Given the description of an element on the screen output the (x, y) to click on. 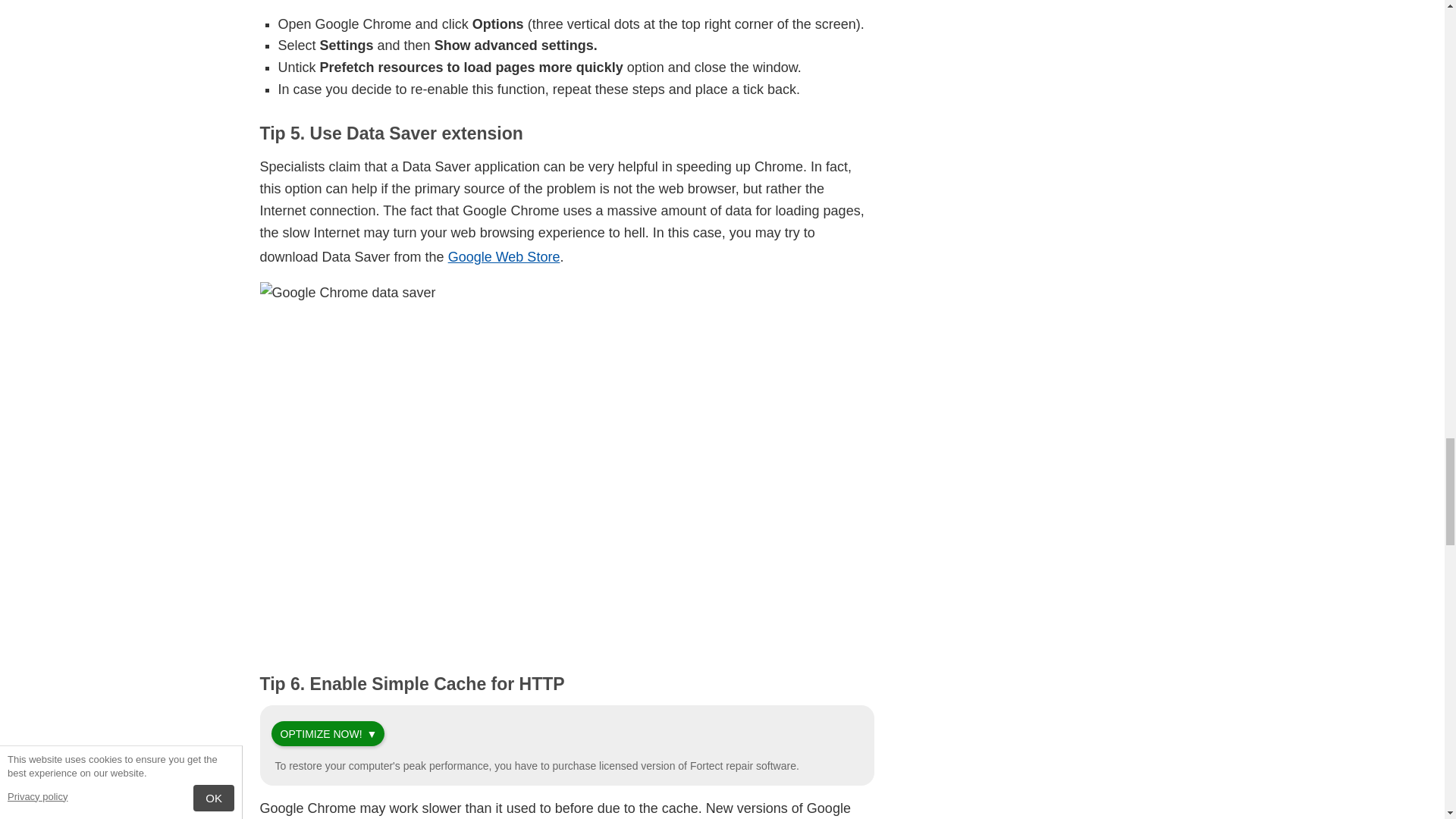
Google Web Store (504, 256)
OPTIMIZE NOW! (321, 734)
